Given the description of an element on the screen output the (x, y) to click on. 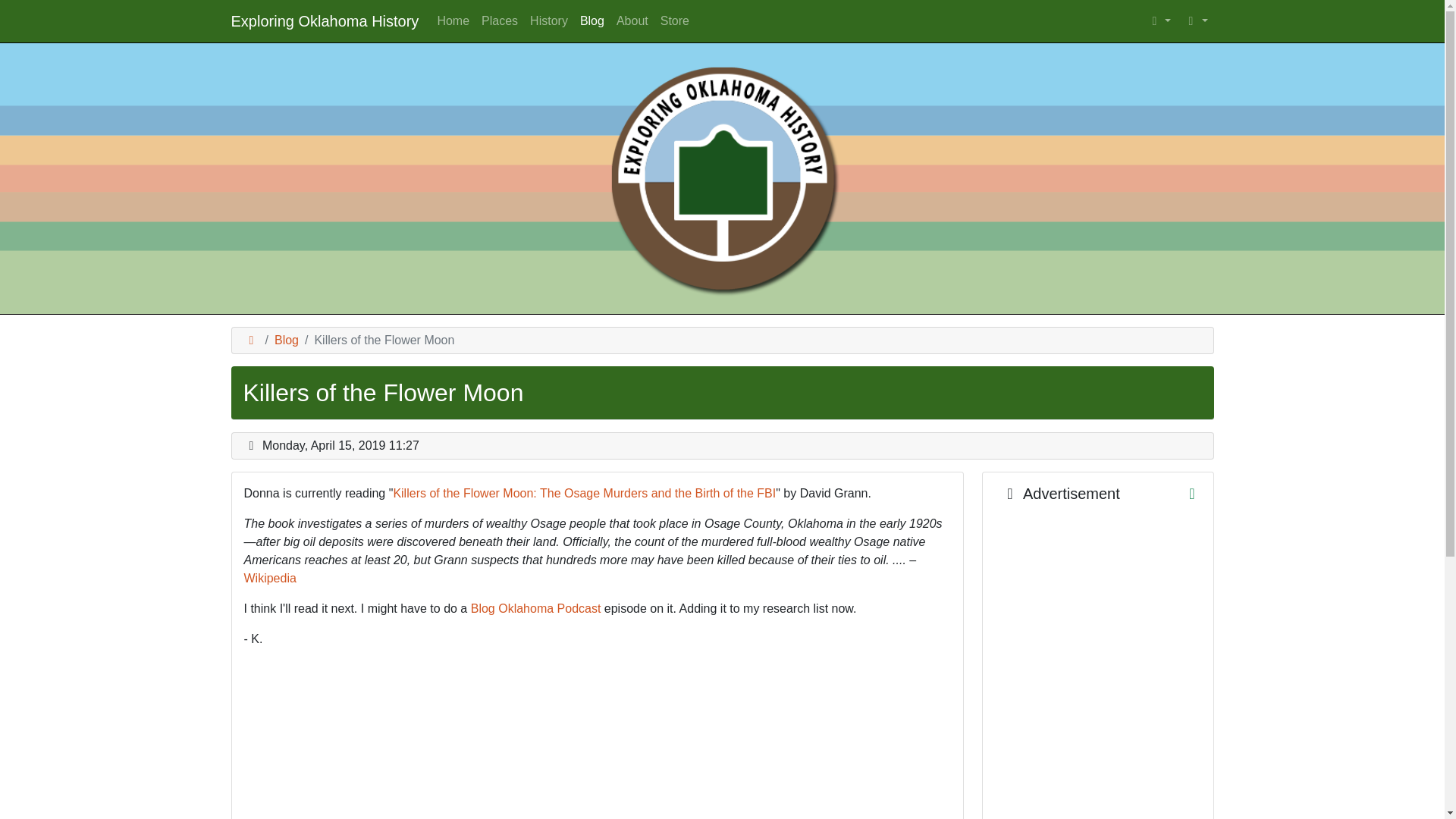
About Us (631, 20)
Advertisement (1098, 673)
Advertisement (1056, 493)
History (548, 20)
Blog (591, 20)
Blog Oklahoma Network (1194, 20)
Home (453, 20)
Today in Oklahoma History (548, 20)
Places (500, 20)
Our CafePress Store (674, 20)
Store (674, 20)
Home (453, 20)
About (631, 20)
Our Blog (591, 20)
Blog (286, 339)
